Given the description of an element on the screen output the (x, y) to click on. 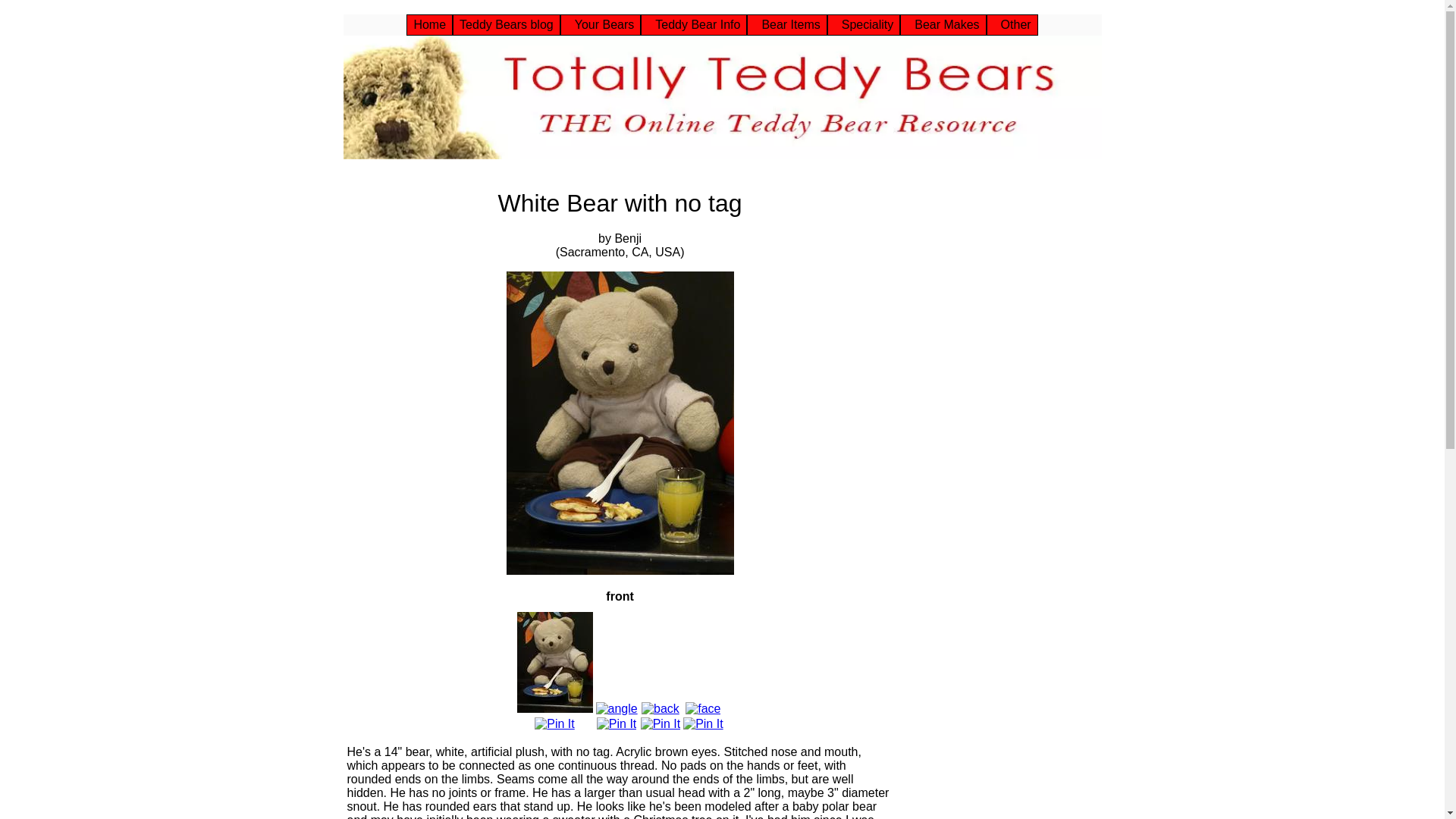
Teddy Bears blog (505, 25)
back (660, 708)
Pin It (553, 724)
Pin It (659, 724)
Home (429, 25)
Pin It (702, 724)
face (702, 708)
angle (616, 708)
Pin It (616, 724)
